Given the description of an element on the screen output the (x, y) to click on. 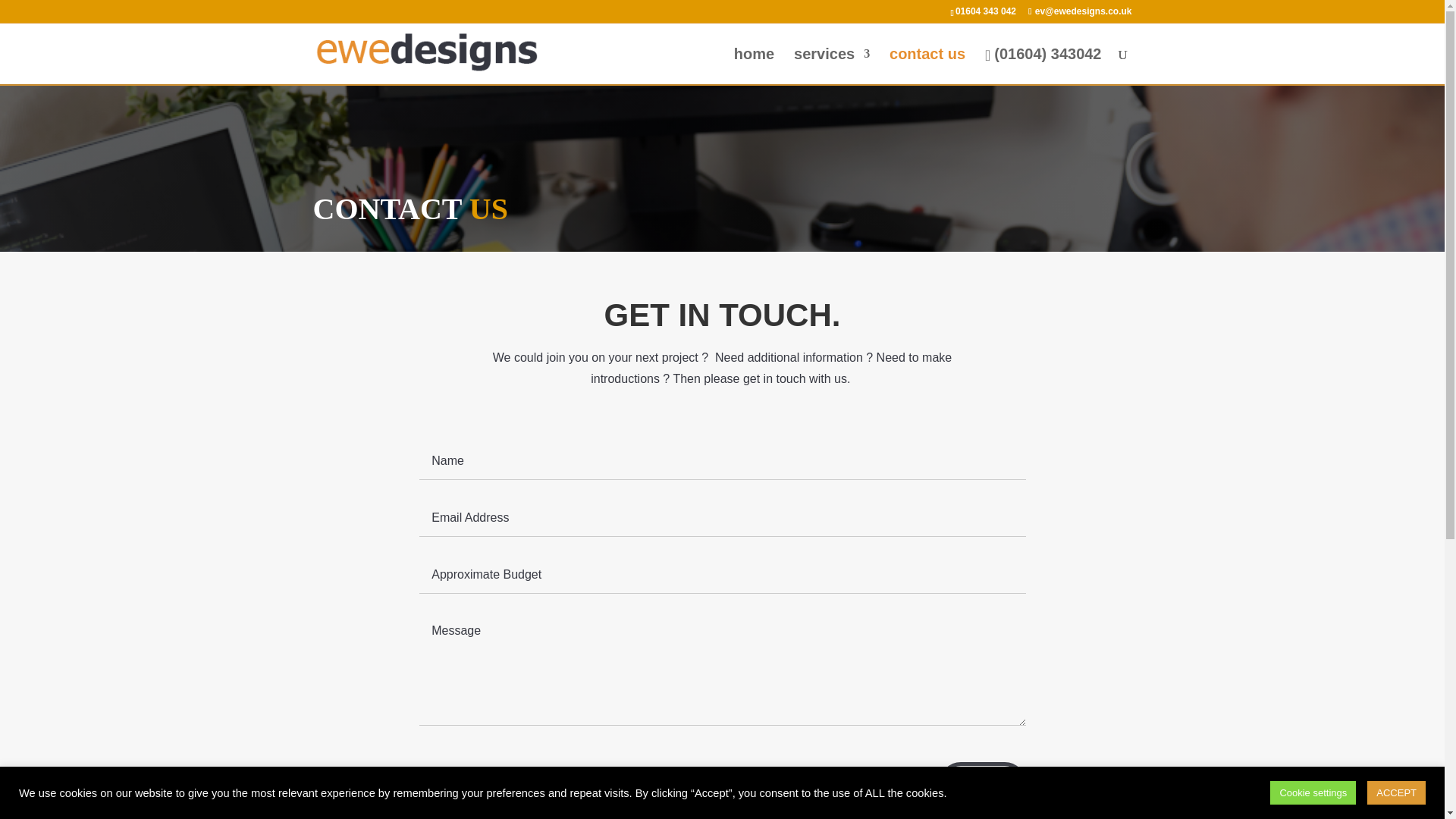
services (831, 66)
ACCEPT (1396, 792)
home (753, 66)
contact us (927, 66)
SEND (982, 783)
Cookie settings (1312, 792)
